Given the description of an element on the screen output the (x, y) to click on. 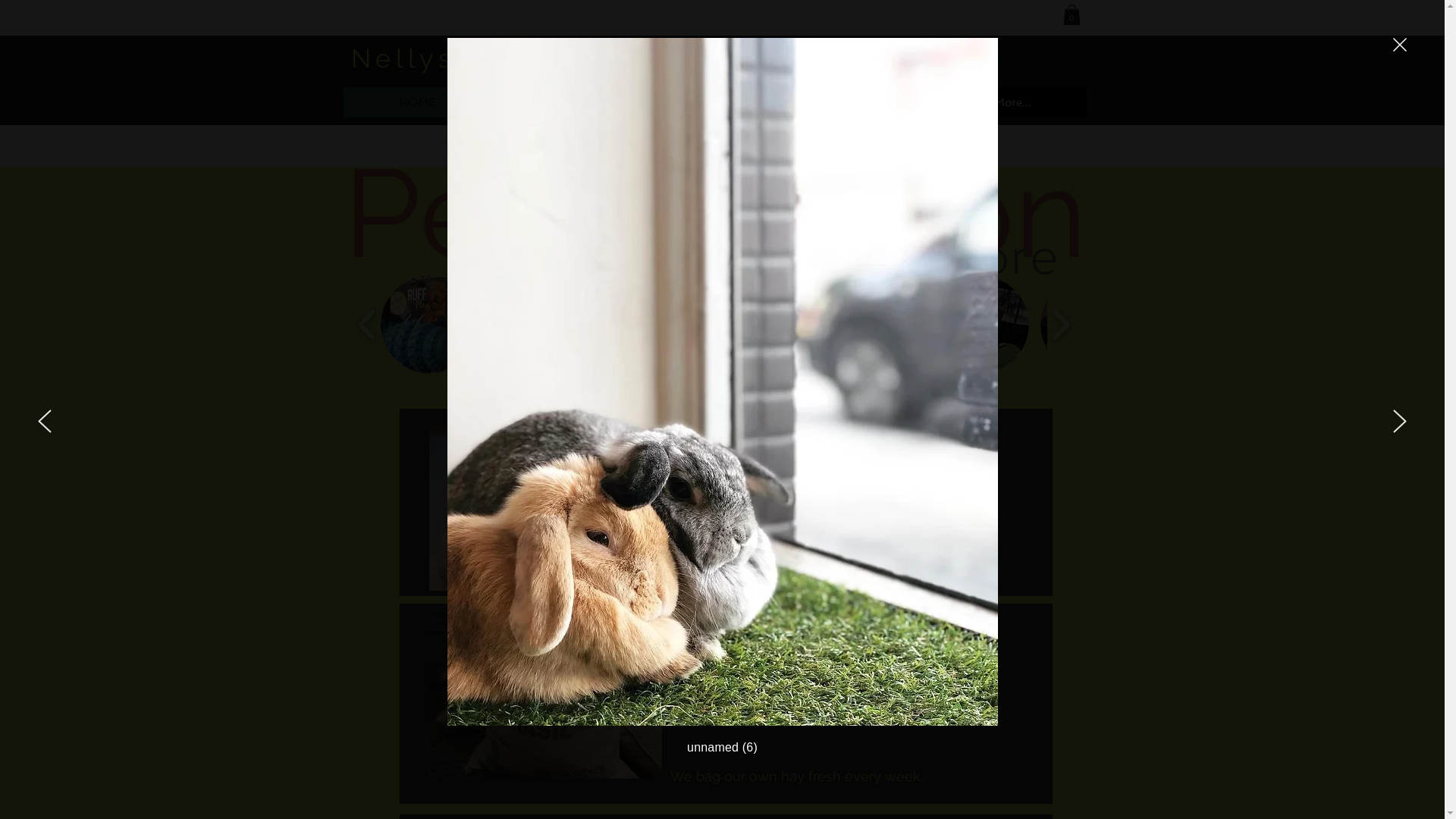
HOME Element type: text (416, 102)
Log In Element type: text (1014, 61)
NellysArk Element type: text (430, 58)
0 Element type: text (1071, 14)
